Given the description of an element on the screen output the (x, y) to click on. 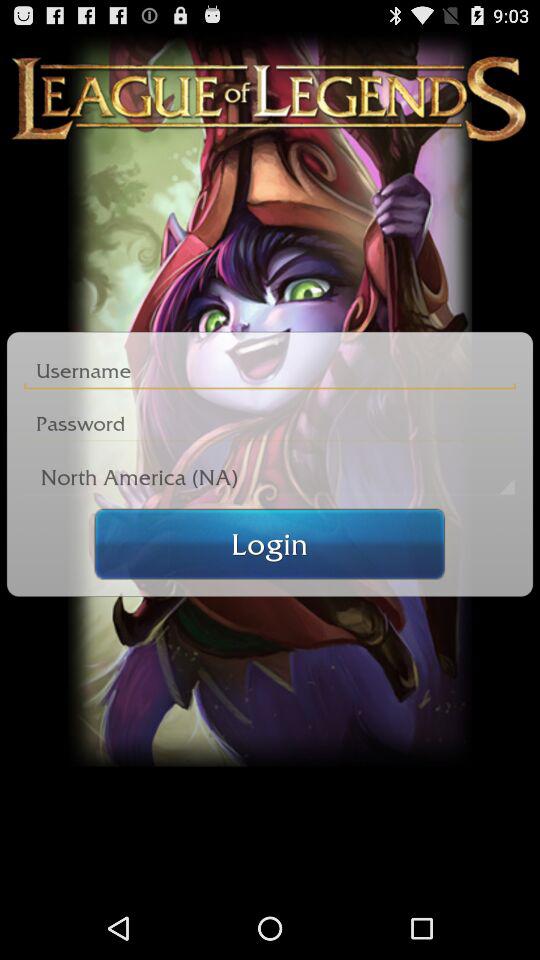
flip to the login (269, 543)
